Given the description of an element on the screen output the (x, y) to click on. 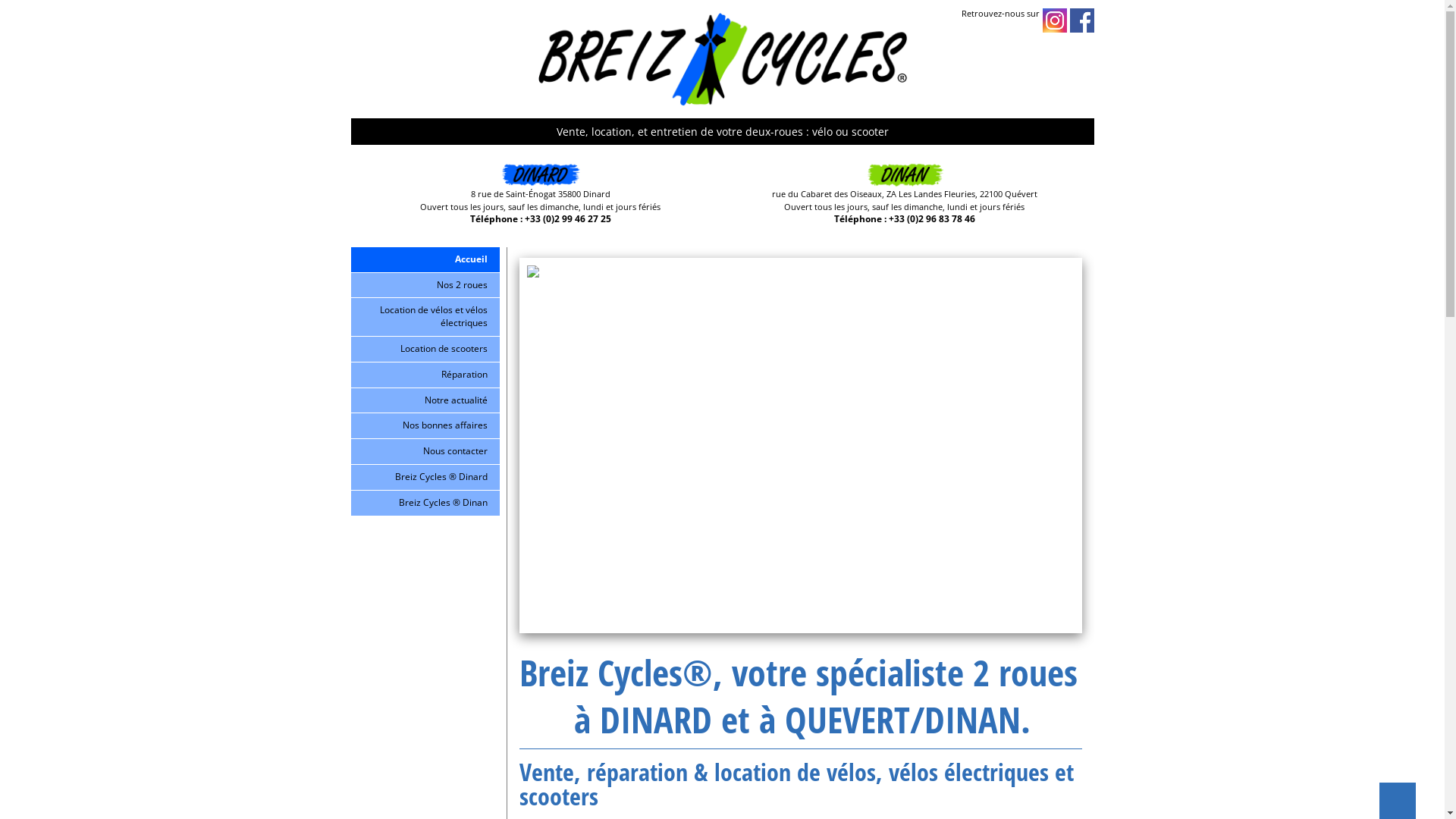
Accueil Element type: text (424, 260)
Nos 2 roues Element type: text (424, 285)
Nous contacter Element type: text (424, 451)
Location de scooters Element type: text (424, 349)
Nos bonnes affaires Element type: text (424, 426)
